Given the description of an element on the screen output the (x, y) to click on. 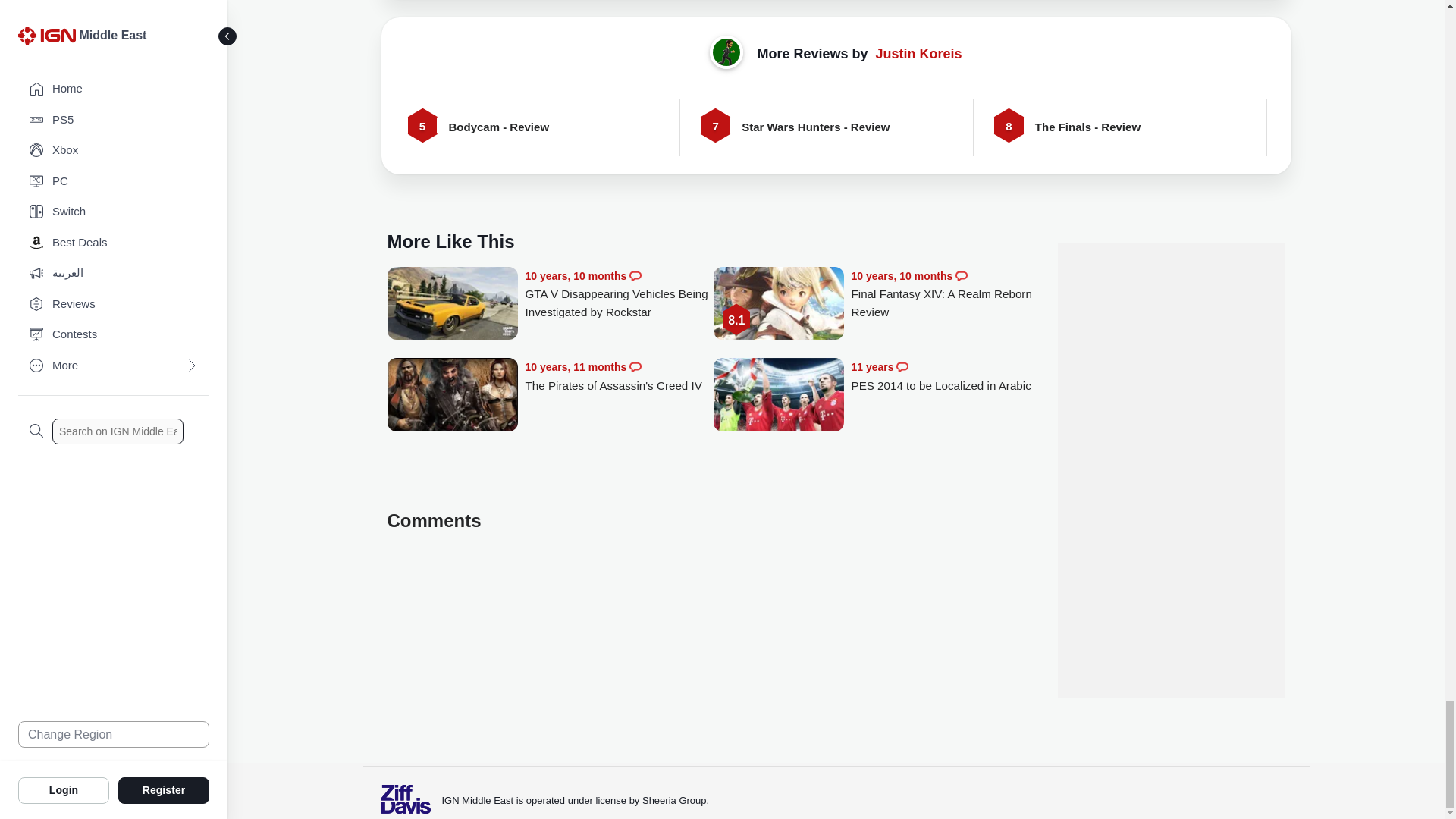
PES 2014 to be Localized in Arabic (778, 395)
The Pirates of Assassin's Creed IV (451, 395)
Final Fantasy XIV: A Realm Reborn Review (778, 304)
PES 2014 to be Localized in Arabic (944, 375)
The Pirates of Assassin's Creed IV (618, 375)
Final Fantasy XIV: A Realm Reborn Review (944, 294)
GTA V Disappearing Vehicles Being Investigated by Rockstar (618, 294)
GTA V Disappearing Vehicles Being Investigated by Rockstar (451, 304)
